Given the description of an element on the screen output the (x, y) to click on. 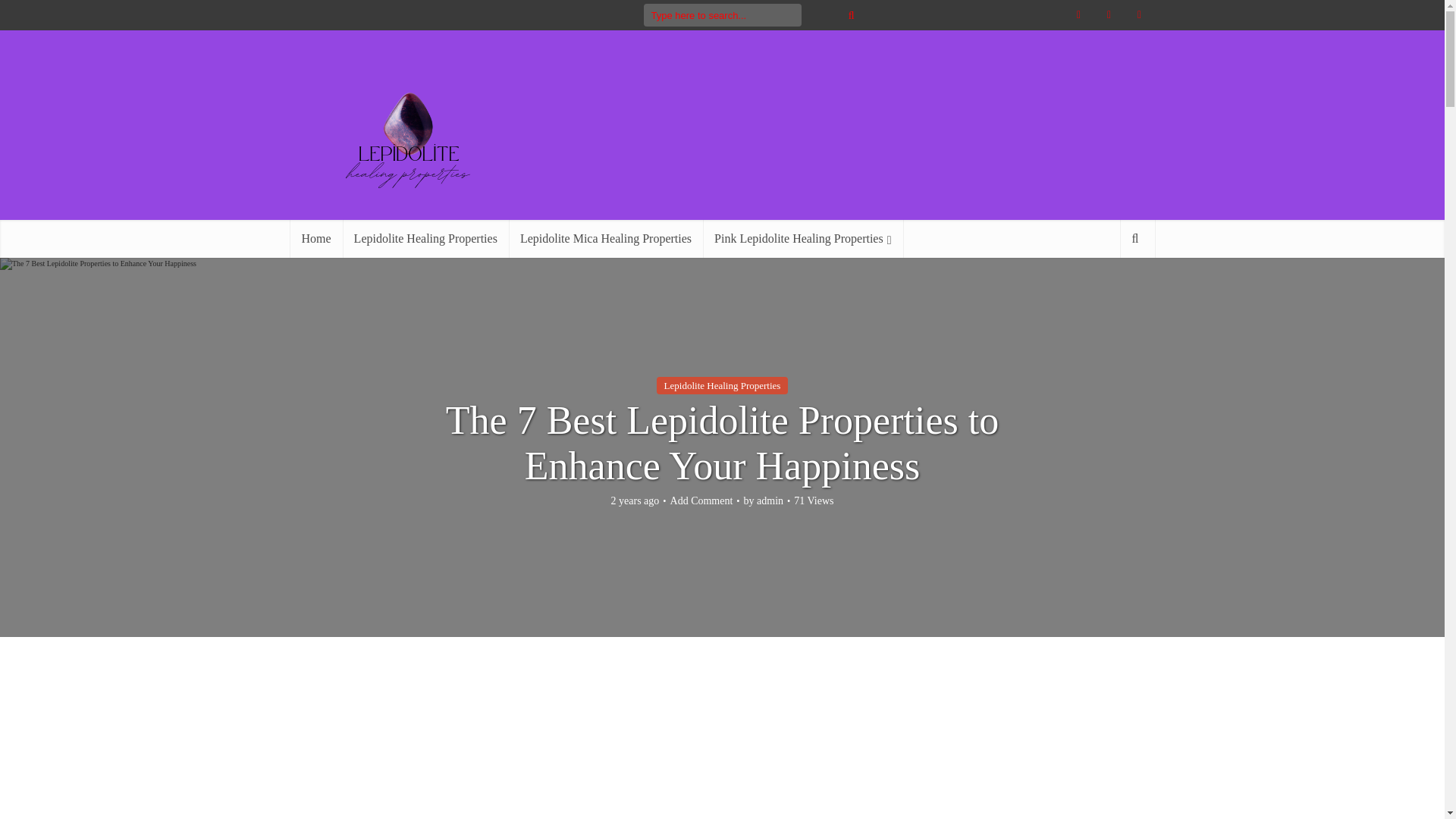
Type here to search... (721, 15)
Advertisement (721, 739)
Add Comment (701, 500)
Advertisement (878, 124)
Home (315, 238)
Pink Lepidolite Healing Properties (802, 238)
admin (770, 500)
Lepidolite Healing Properties (722, 384)
Lepidolite Mica Healing Properties (605, 238)
Type here to search... (721, 15)
Lepidolite Healing Properties (425, 238)
